Given the description of an element on the screen output the (x, y) to click on. 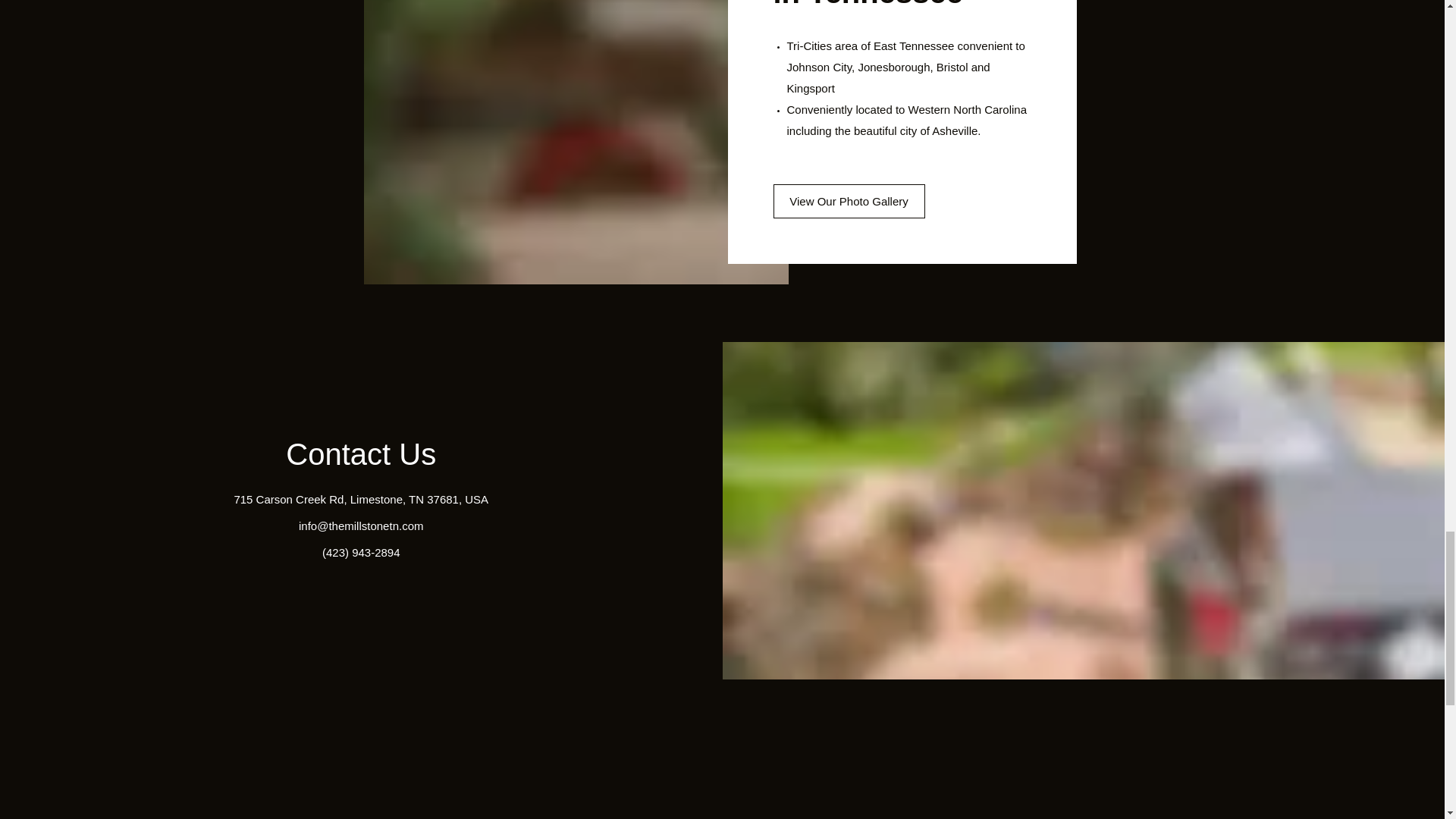
View Our Photo Gallery (848, 201)
